Given the description of an element on the screen output the (x, y) to click on. 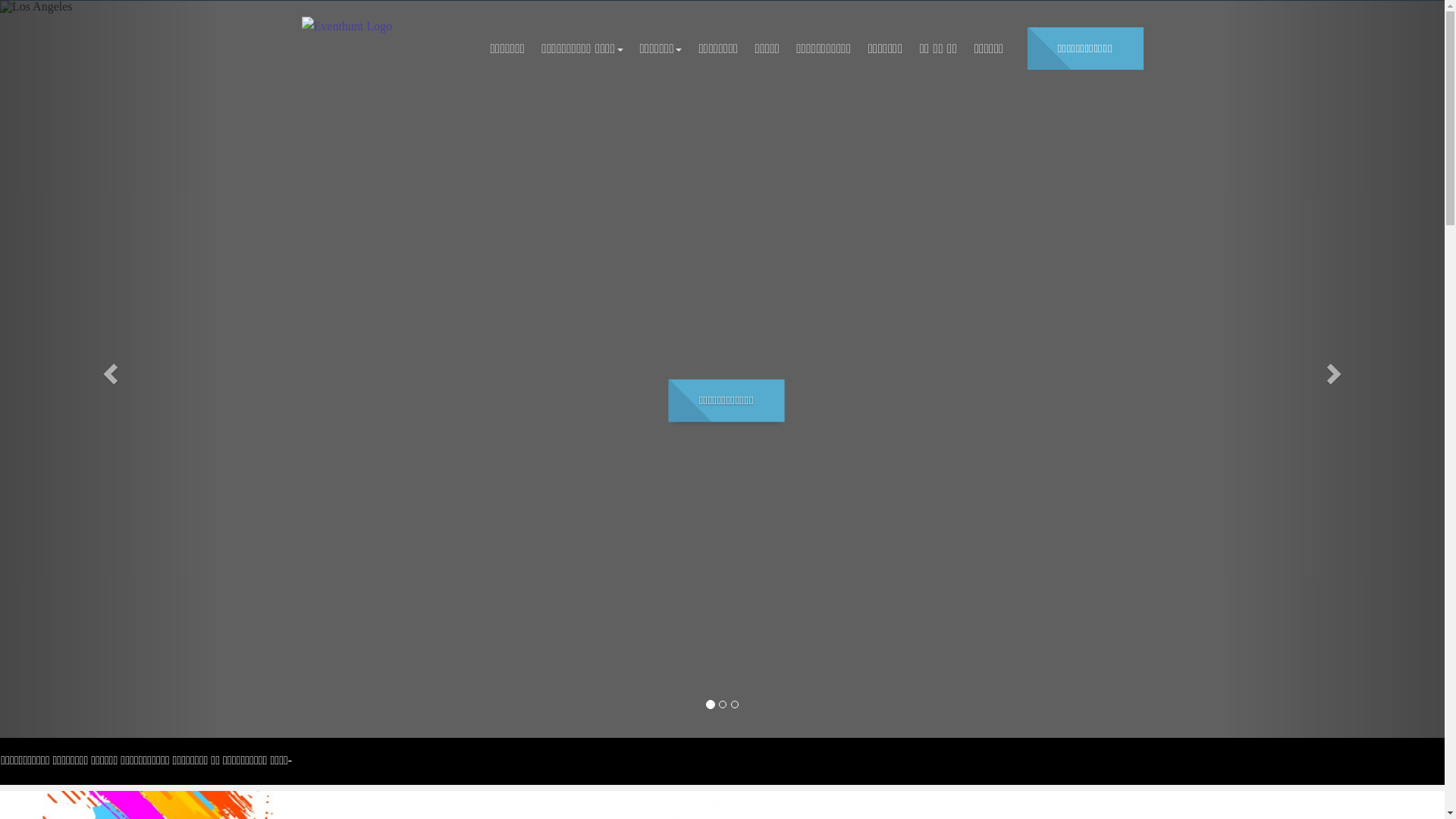
Previous Element type: text (108, 368)
Next Element type: text (1335, 368)
